Given the description of an element on the screen output the (x, y) to click on. 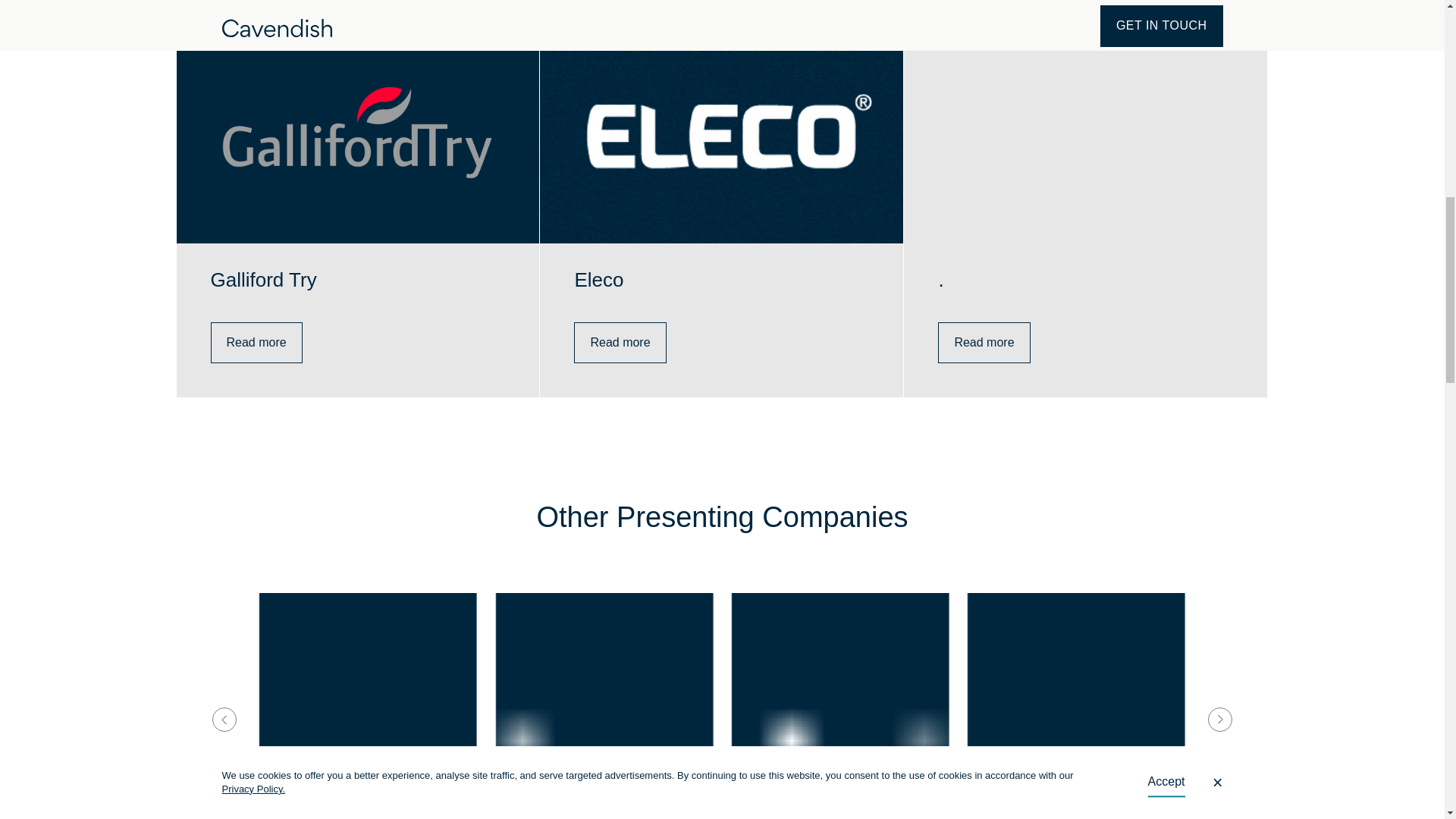
Read more (256, 342)
Read more (983, 342)
Read more (619, 342)
